Given the description of an element on the screen output the (x, y) to click on. 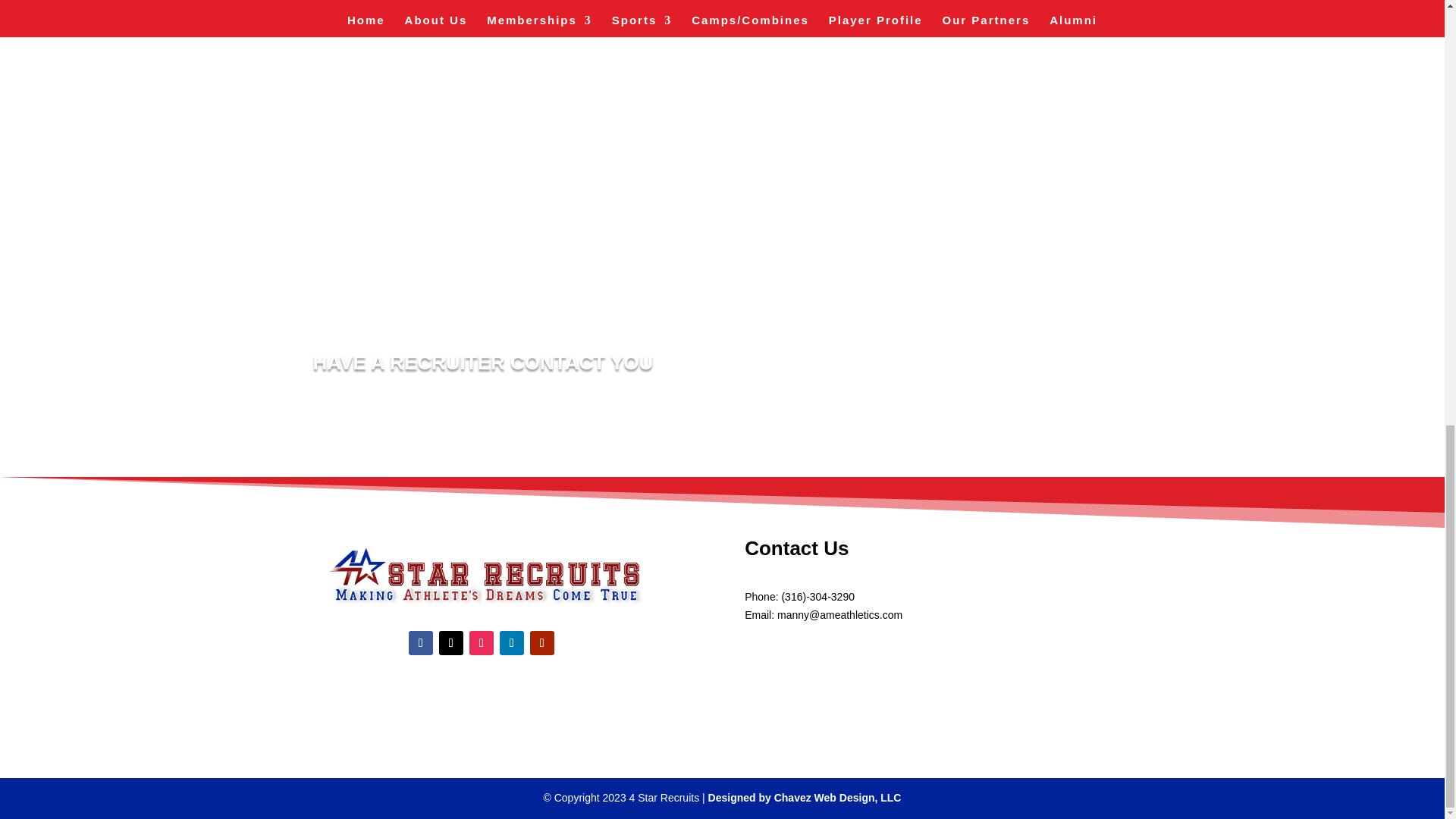
Follow on Youtube (541, 642)
Follow on LinkedIn (511, 642)
Final-Logo (481, 574)
Follow on Instagram (480, 642)
Follow on X (451, 642)
Designed by Chavez Web Design, LLC (804, 797)
Follow on Facebook (420, 642)
